Given the description of an element on the screen output the (x, y) to click on. 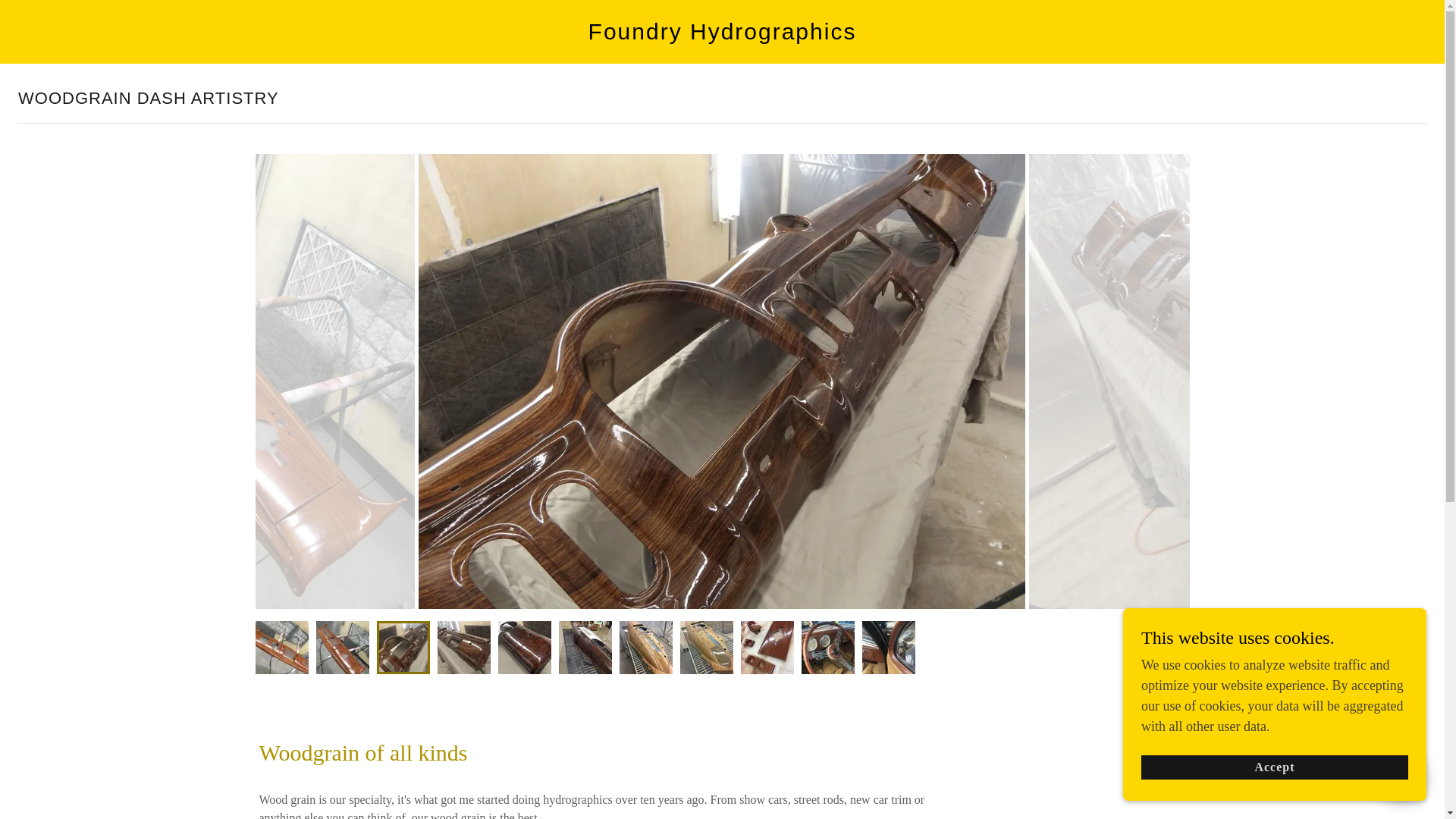
Foundry Hydrographics (721, 34)
Accept (1274, 767)
Foundry Hydrographics (721, 34)
